Given the description of an element on the screen output the (x, y) to click on. 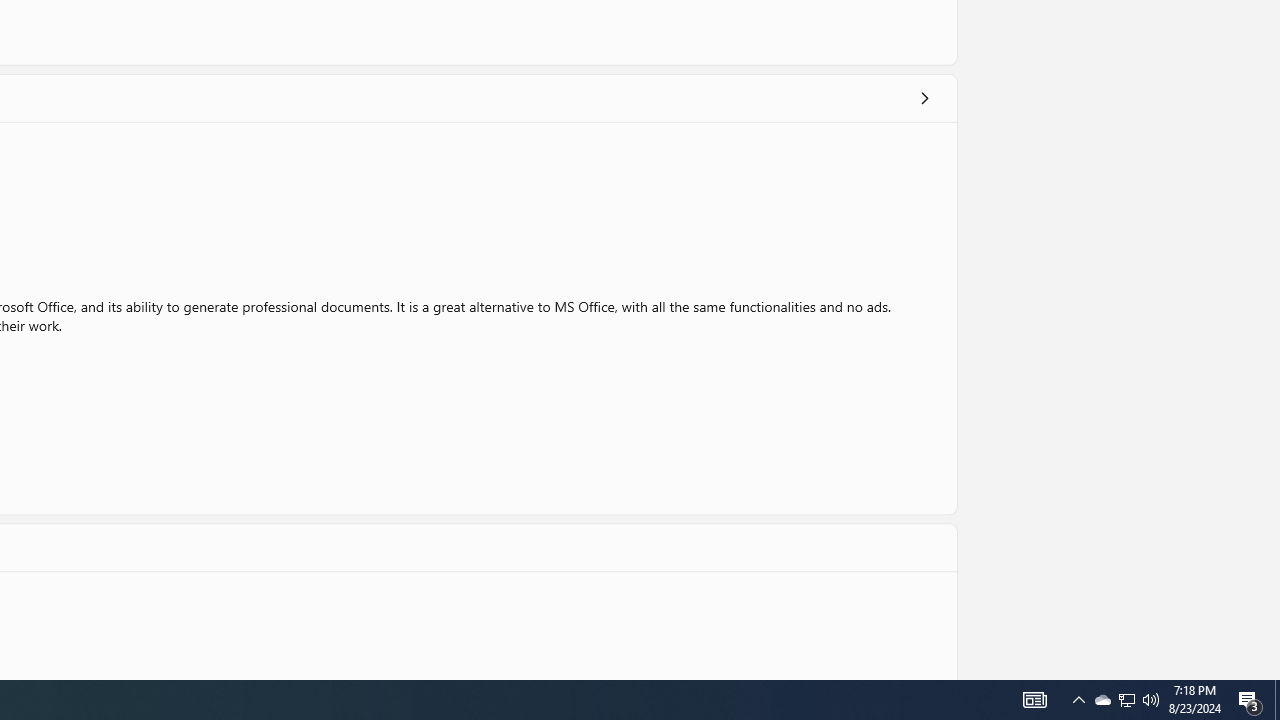
Show all ratings and reviews (924, 97)
